Given the description of an element on the screen output the (x, y) to click on. 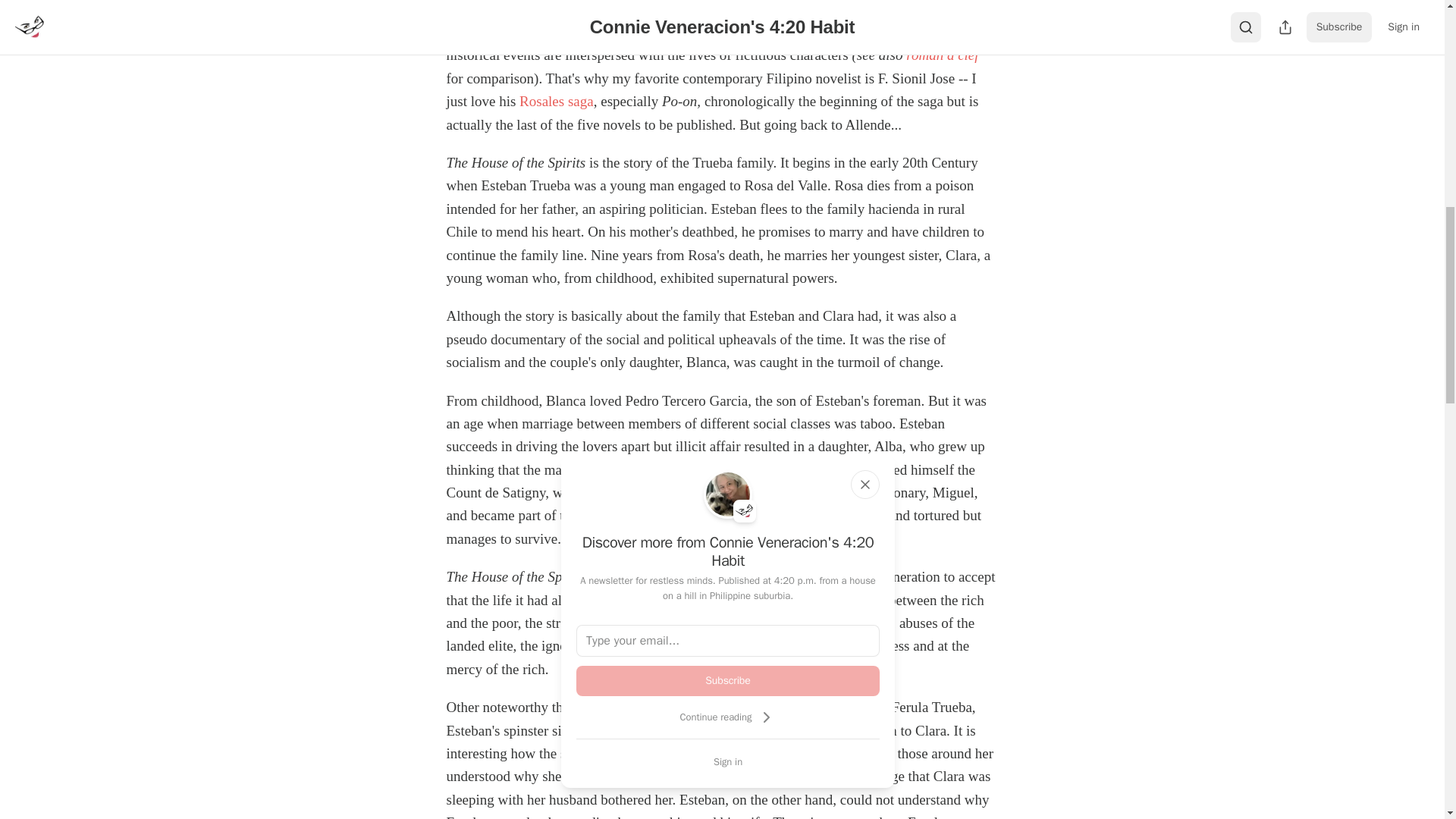
Subscribe (727, 680)
Sign in (727, 761)
Rosales saga (556, 100)
